Given the description of an element on the screen output the (x, y) to click on. 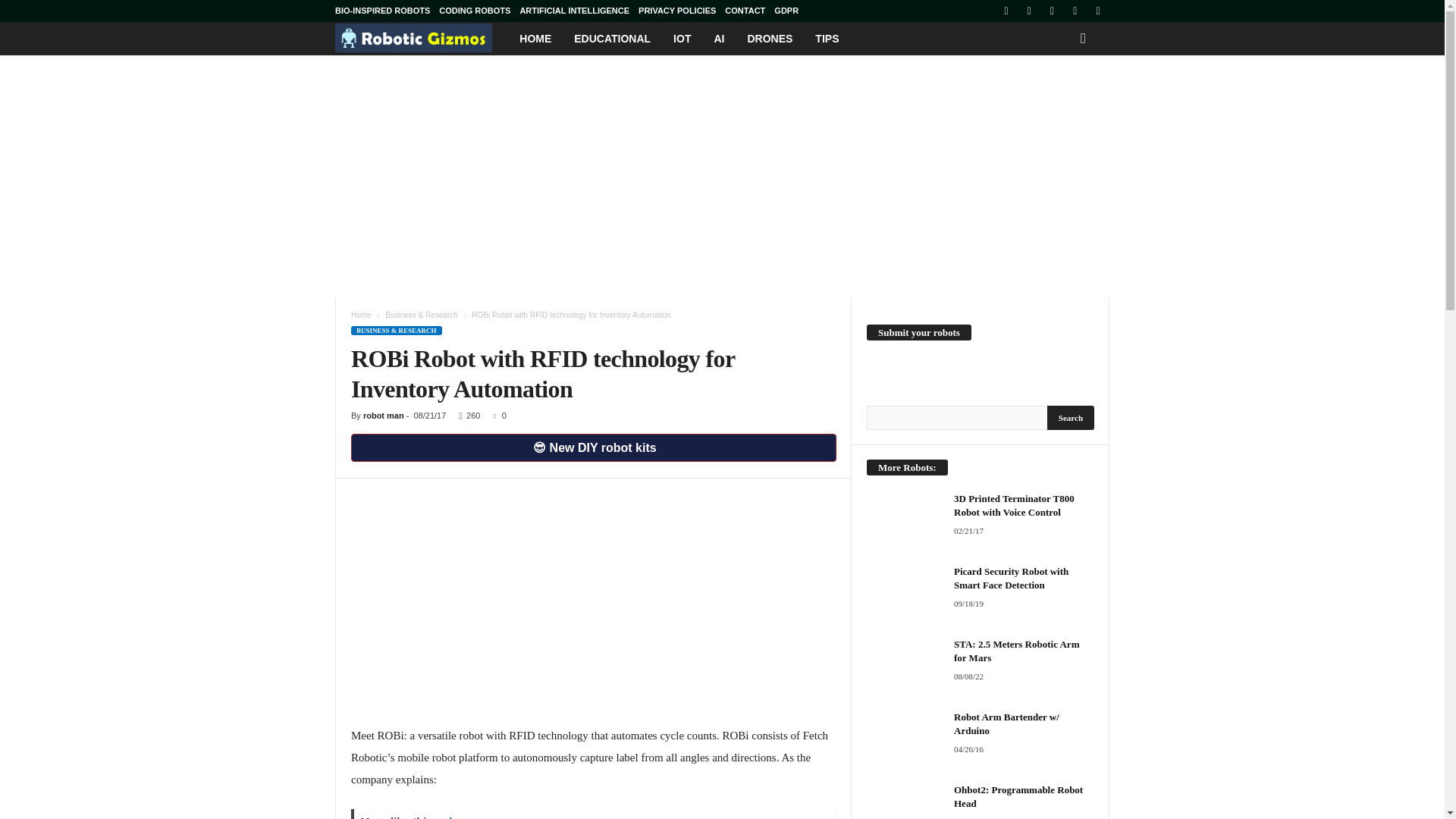
BIO-INSPIRED ROBOTS (381, 10)
HOME (535, 38)
Search (1070, 417)
CONTACT (745, 10)
CODING ROBOTS (475, 10)
Robotic Gizmos (421, 38)
PRIVACY POLICIES (677, 10)
GDPR (785, 10)
ARTIFICIAL INTELLIGENCE (573, 10)
